Given the description of an element on the screen output the (x, y) to click on. 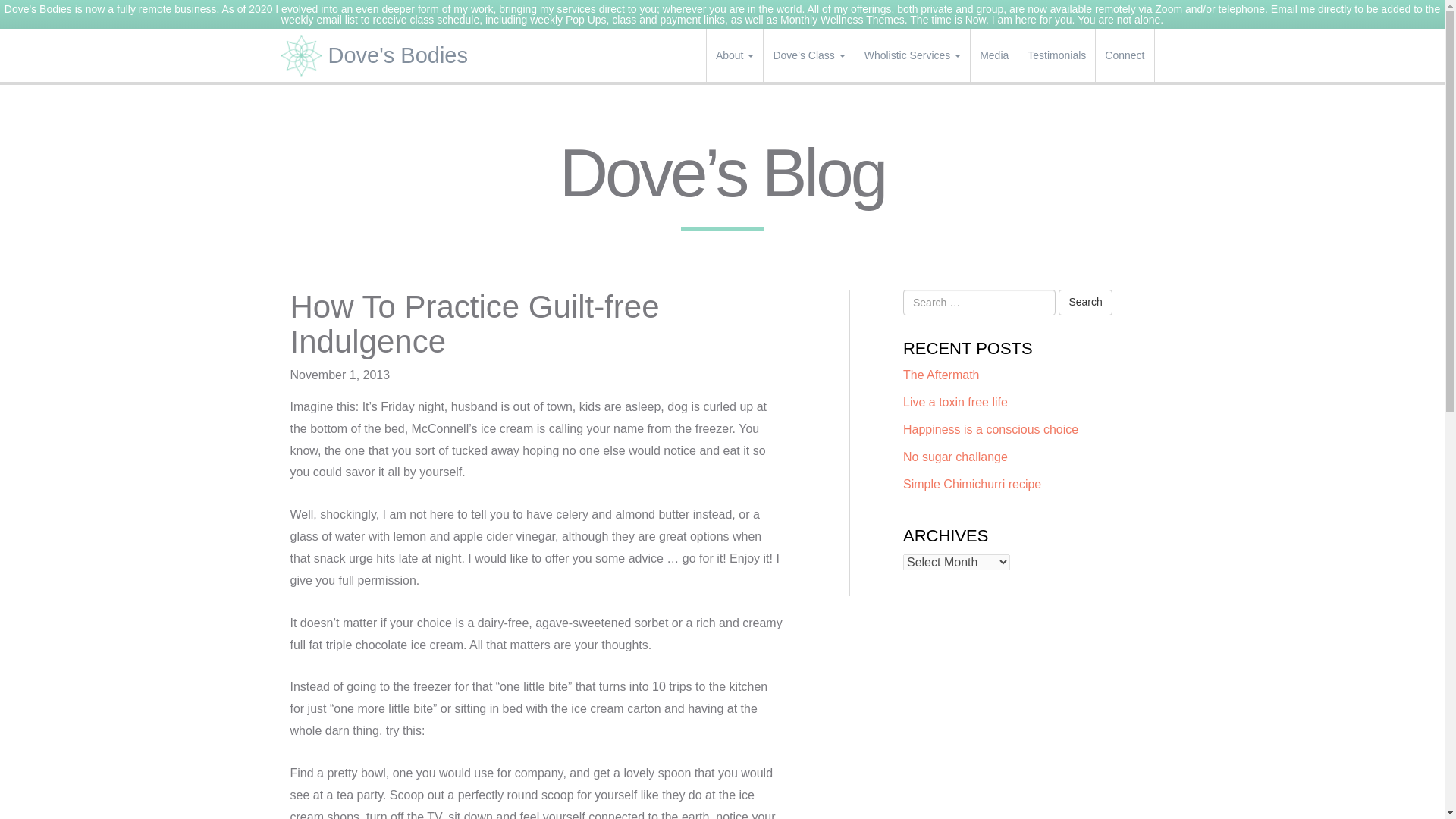
Simple Chimichurri recipe (971, 483)
Media (994, 54)
Testimonials (1055, 54)
Search (1085, 302)
Search (1085, 302)
Live a toxin free life (954, 401)
The Aftermath (940, 374)
Wholistic Services (912, 54)
Dove's Class (807, 54)
About (734, 54)
Connect (1124, 54)
No sugar challange (954, 456)
About (734, 54)
Search (1085, 302)
Dove's Bodies (379, 54)
